Given the description of an element on the screen output the (x, y) to click on. 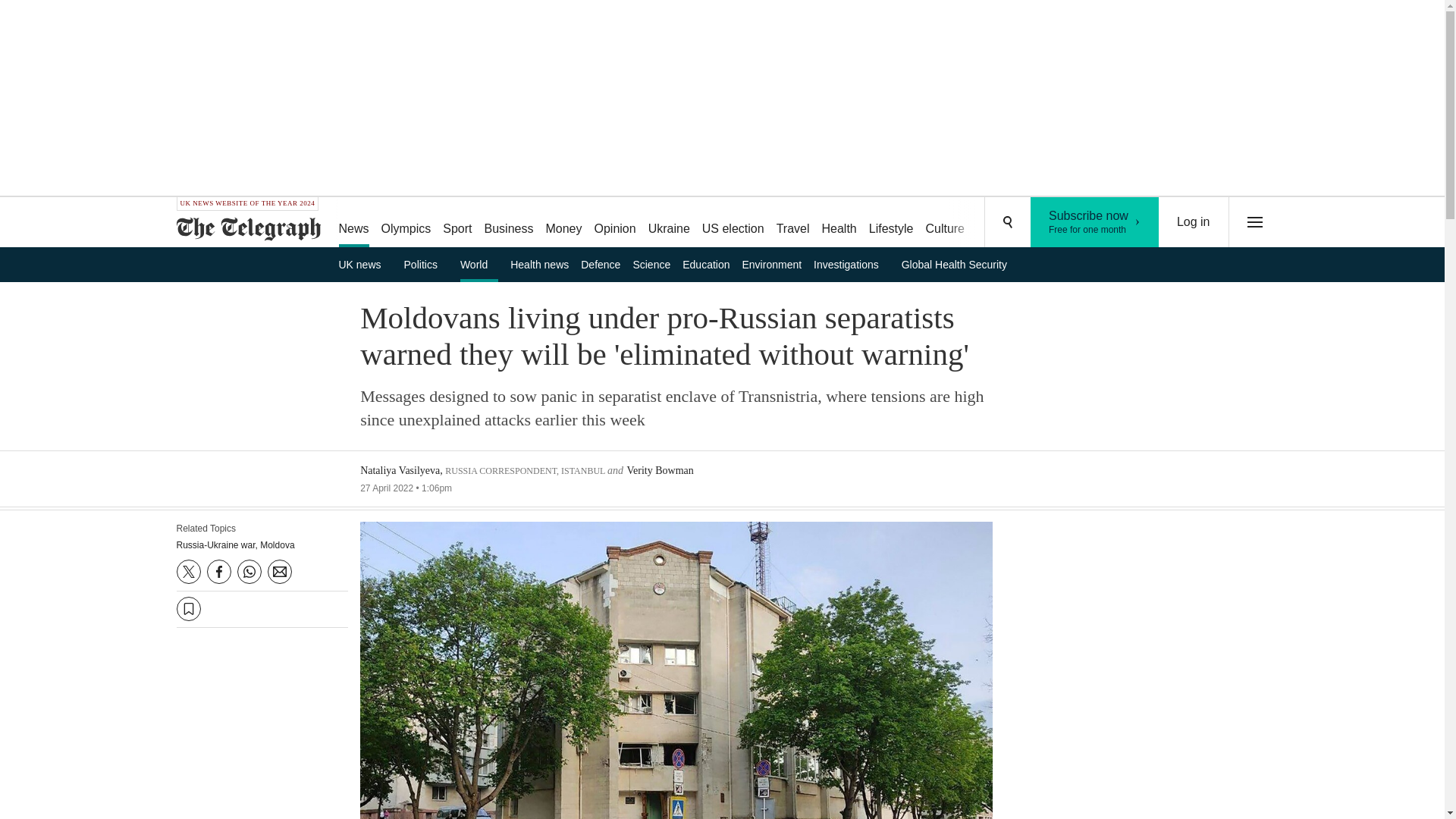
Lifestyle (1094, 222)
Puzzles (891, 223)
Health (998, 223)
World (838, 223)
Podcasts (478, 264)
Money (1056, 223)
Ukraine (563, 223)
Business (668, 223)
Travel (509, 223)
